Given the description of an element on the screen output the (x, y) to click on. 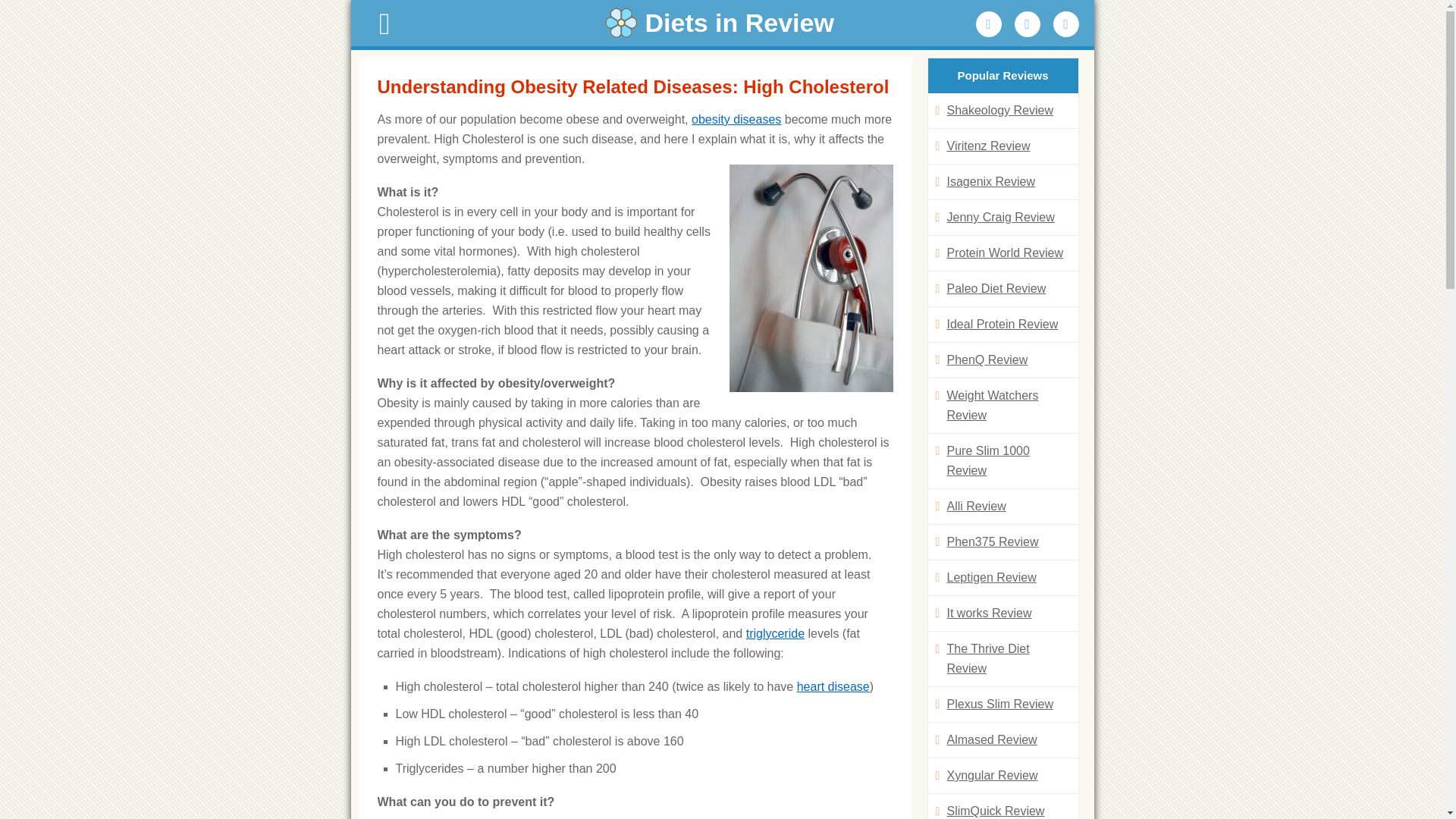
heart disease (832, 686)
Share with Facebook (988, 23)
obesity diseases (735, 119)
triglycerides (775, 633)
Diets in Review (722, 22)
Diets in Review Blog (722, 22)
obesity diseases (735, 119)
heart disease (832, 686)
triglyceride (775, 633)
Add to Twitter (1027, 23)
